Given the description of an element on the screen output the (x, y) to click on. 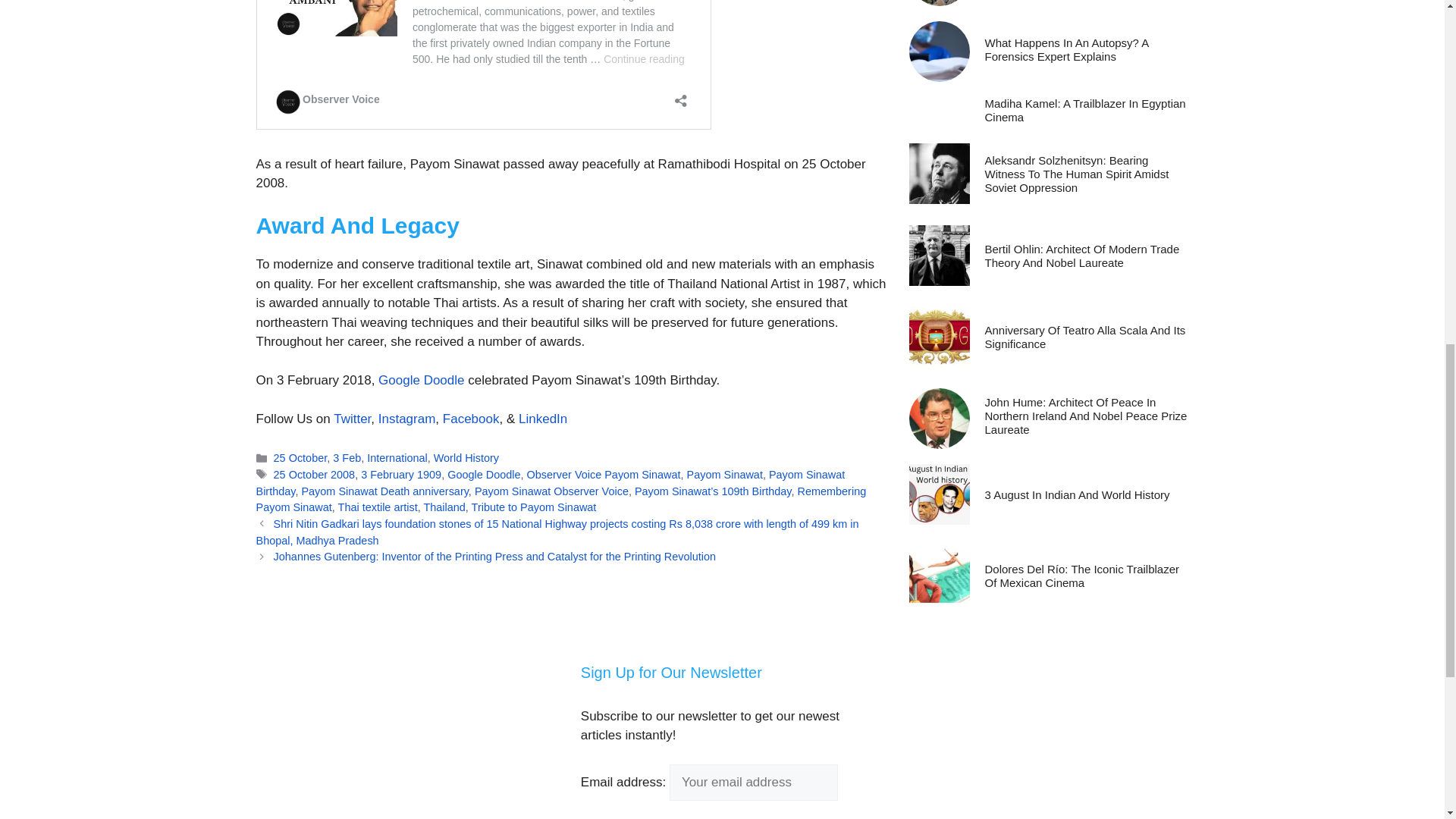
Scroll back to top (1406, 720)
